Given the description of an element on the screen output the (x, y) to click on. 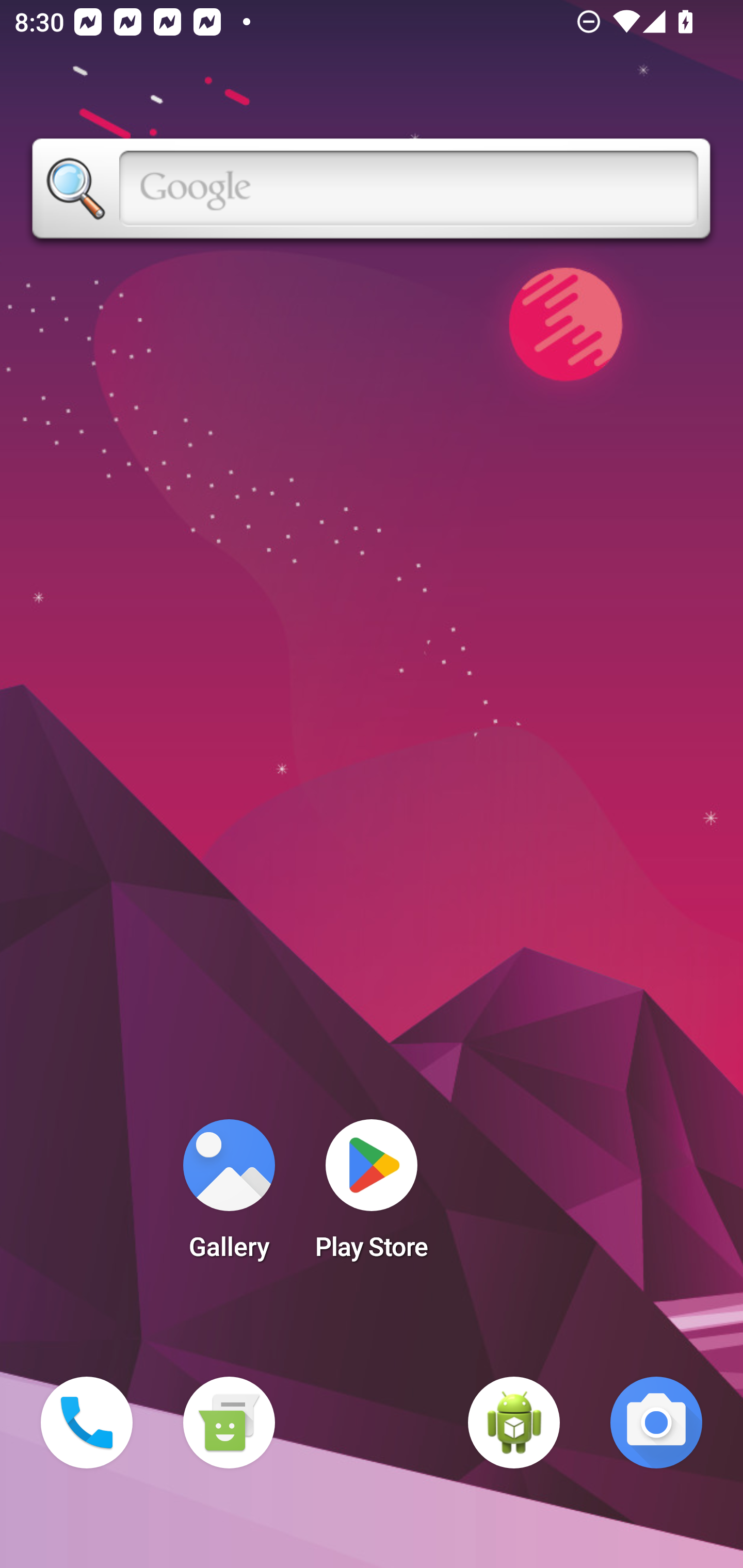
Gallery (228, 1195)
Play Store (371, 1195)
Phone (86, 1422)
Messaging (228, 1422)
WebView Browser Tester (513, 1422)
Camera (656, 1422)
